Given the description of an element on the screen output the (x, y) to click on. 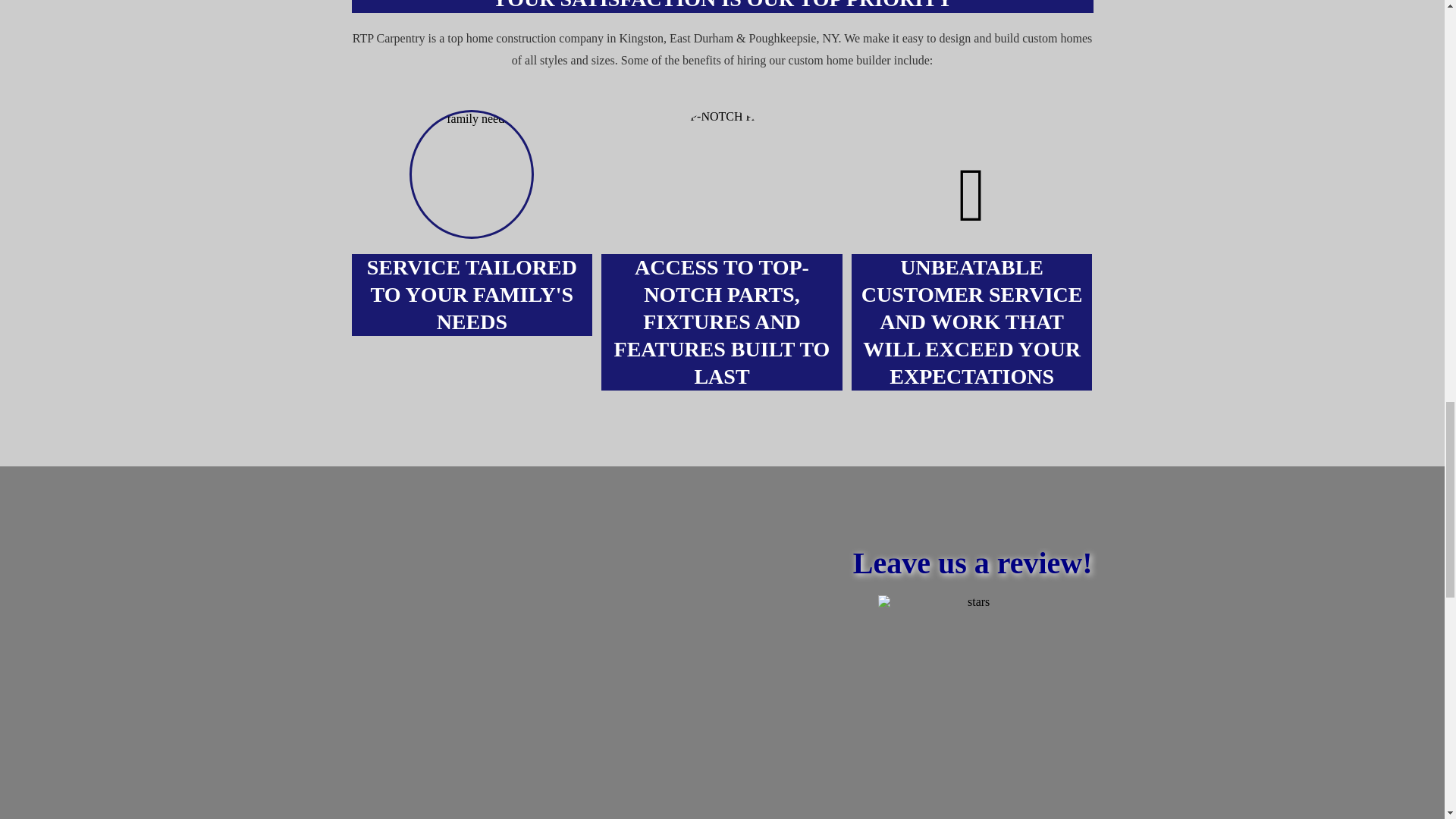
family needs (471, 174)
TOP-NOTCH PARTS (721, 174)
stars (972, 697)
